Given the description of an element on the screen output the (x, y) to click on. 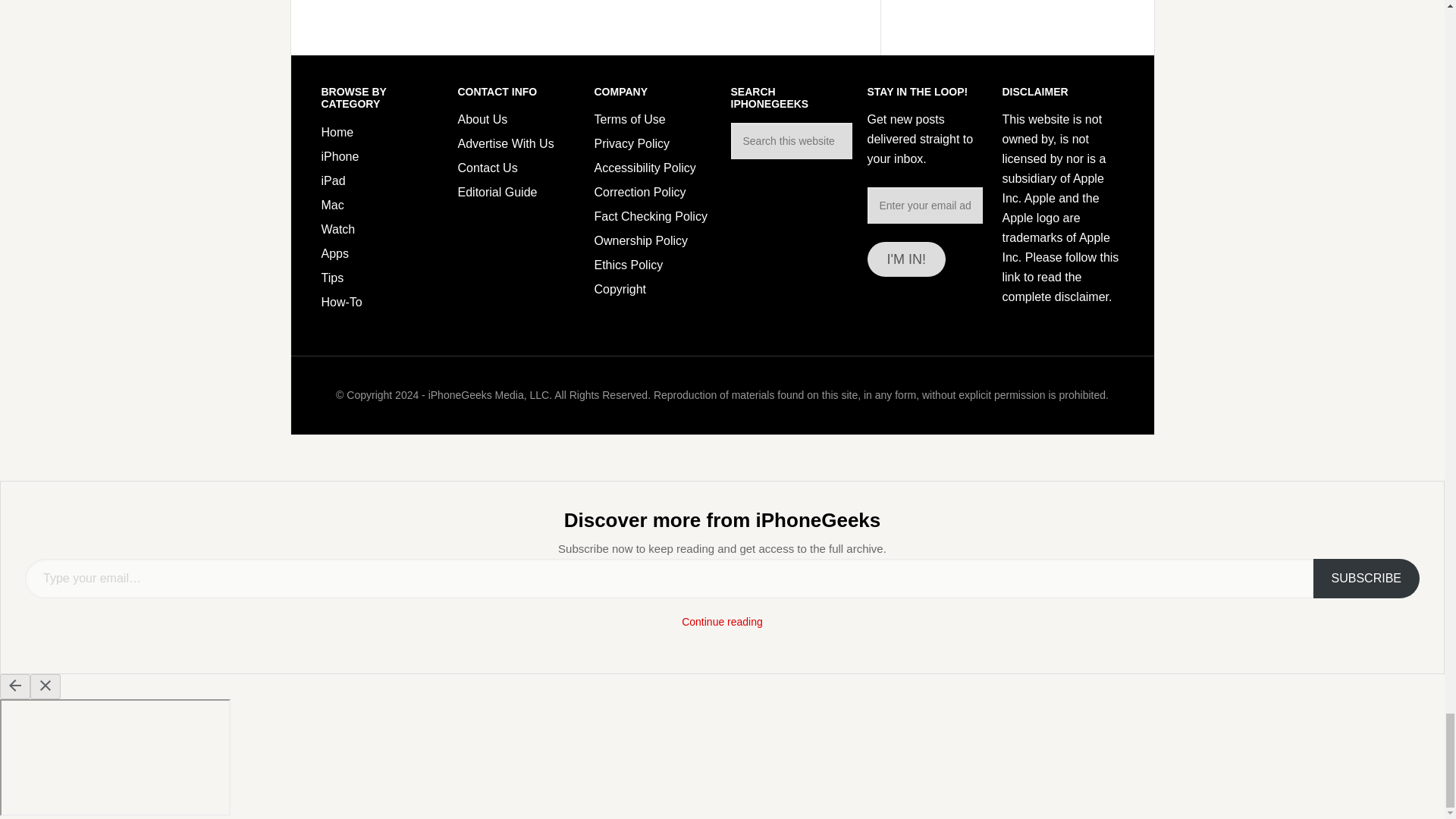
Please fill in this field. (668, 578)
